Given the description of an element on the screen output the (x, y) to click on. 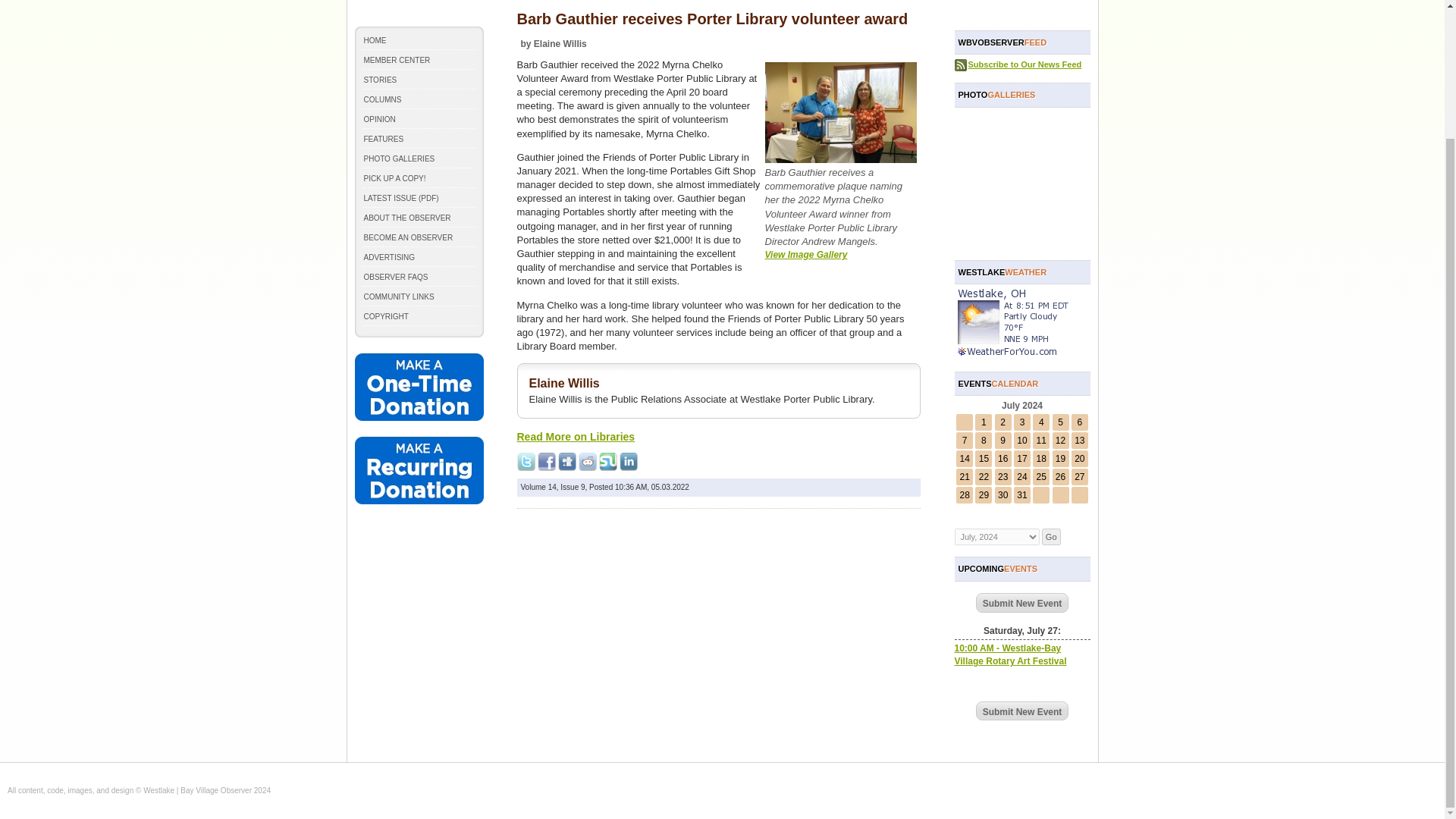
Share on Reddit (586, 461)
23 (1002, 476)
Share on StumbleUpon (607, 461)
15 (983, 458)
Share on Reddit (586, 461)
Share on Facebook (545, 461)
28 (964, 494)
13 (1079, 439)
19 (1060, 458)
Go (1051, 536)
25 (1041, 476)
12 (1060, 439)
Share on Twitter (525, 461)
20 (1079, 458)
14 (964, 458)
